Given the description of an element on the screen output the (x, y) to click on. 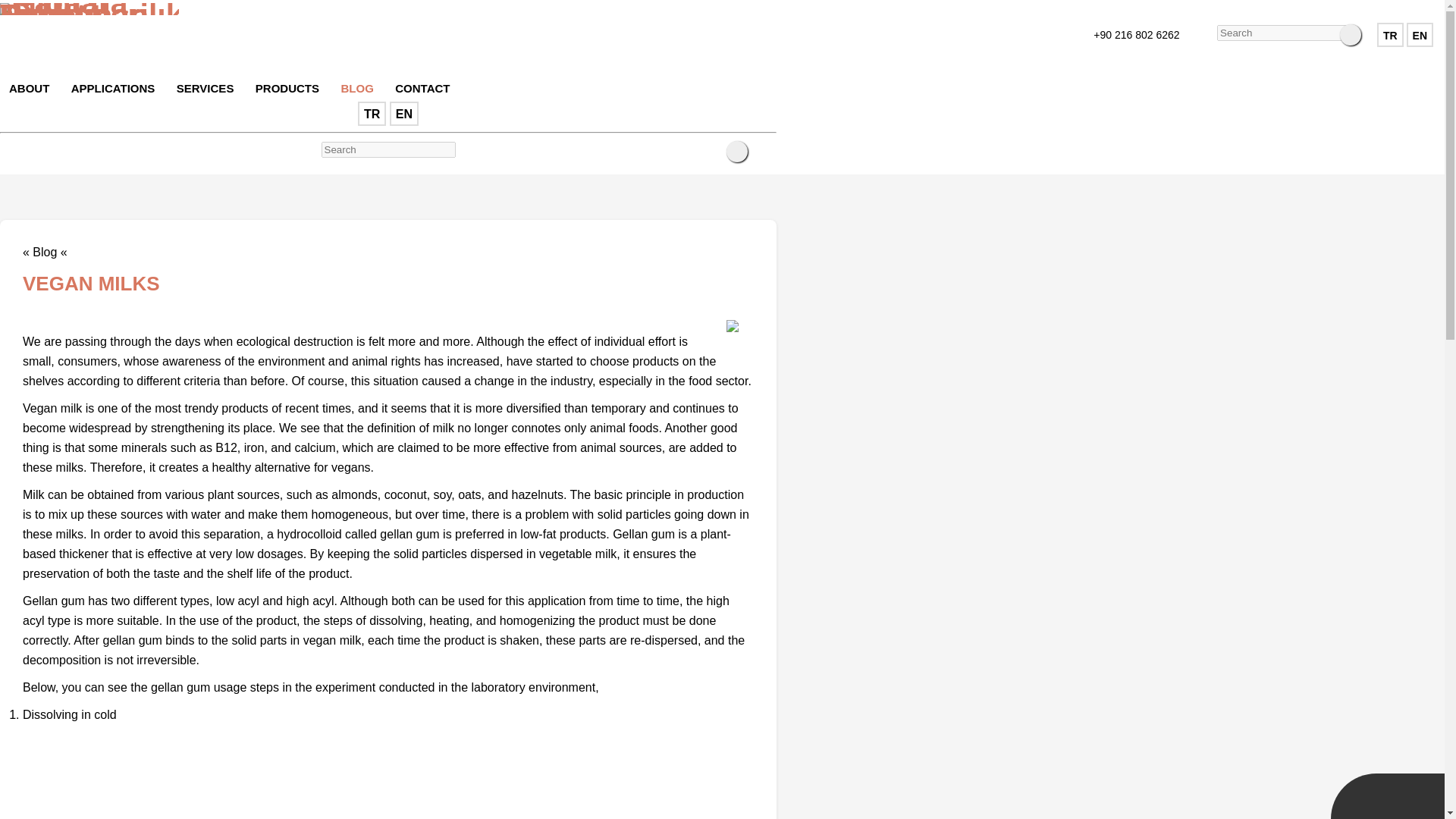
SERVICES (205, 86)
Search (737, 151)
Search (1350, 34)
CONTACT (421, 86)
TR (1390, 34)
APPLICATIONS (113, 86)
EN (404, 113)
ABOUT (29, 86)
EN (1419, 34)
PRODUCTS (287, 86)
